Given the description of an element on the screen output the (x, y) to click on. 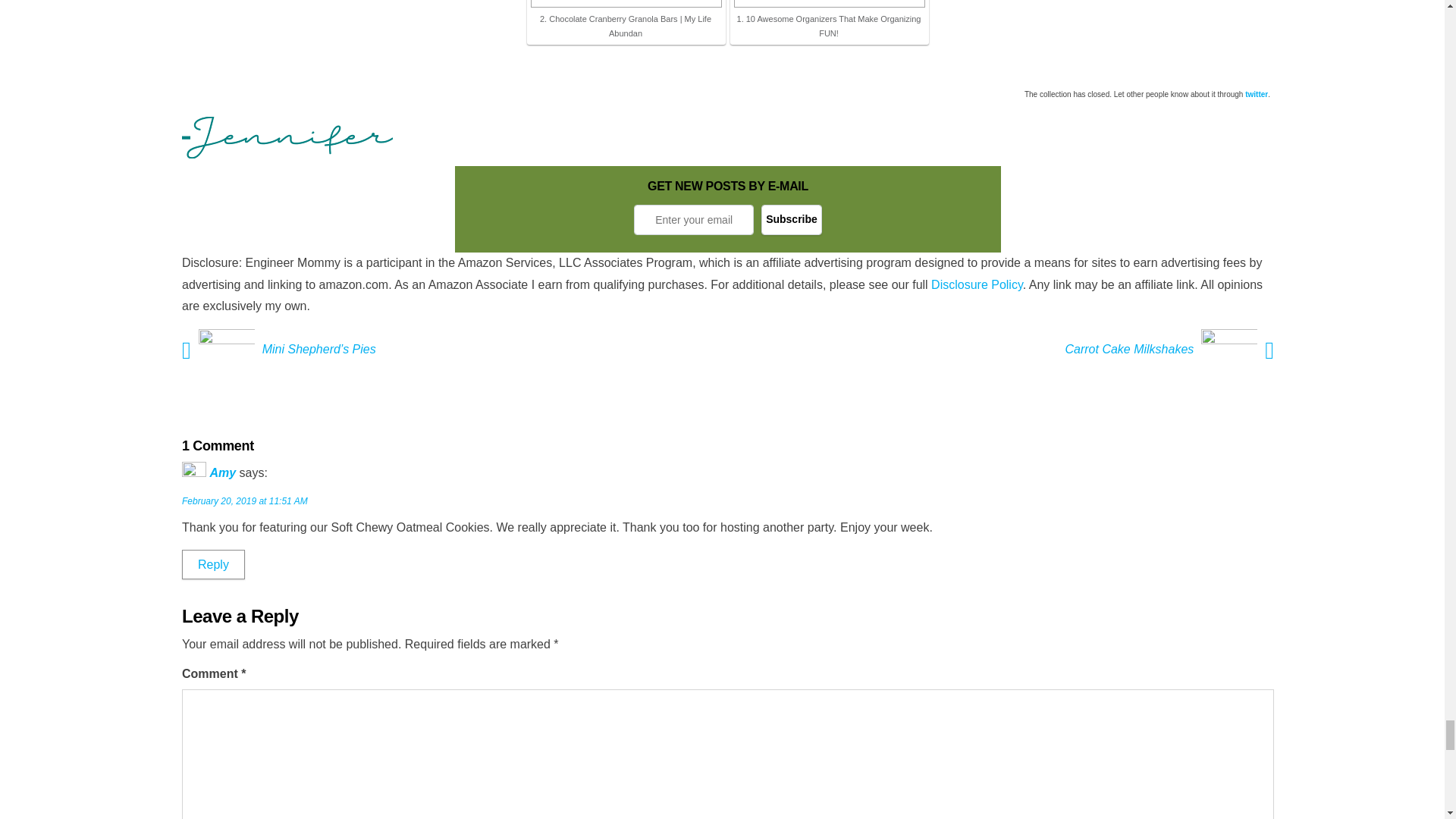
Subscribe (791, 219)
